Given the description of an element on the screen output the (x, y) to click on. 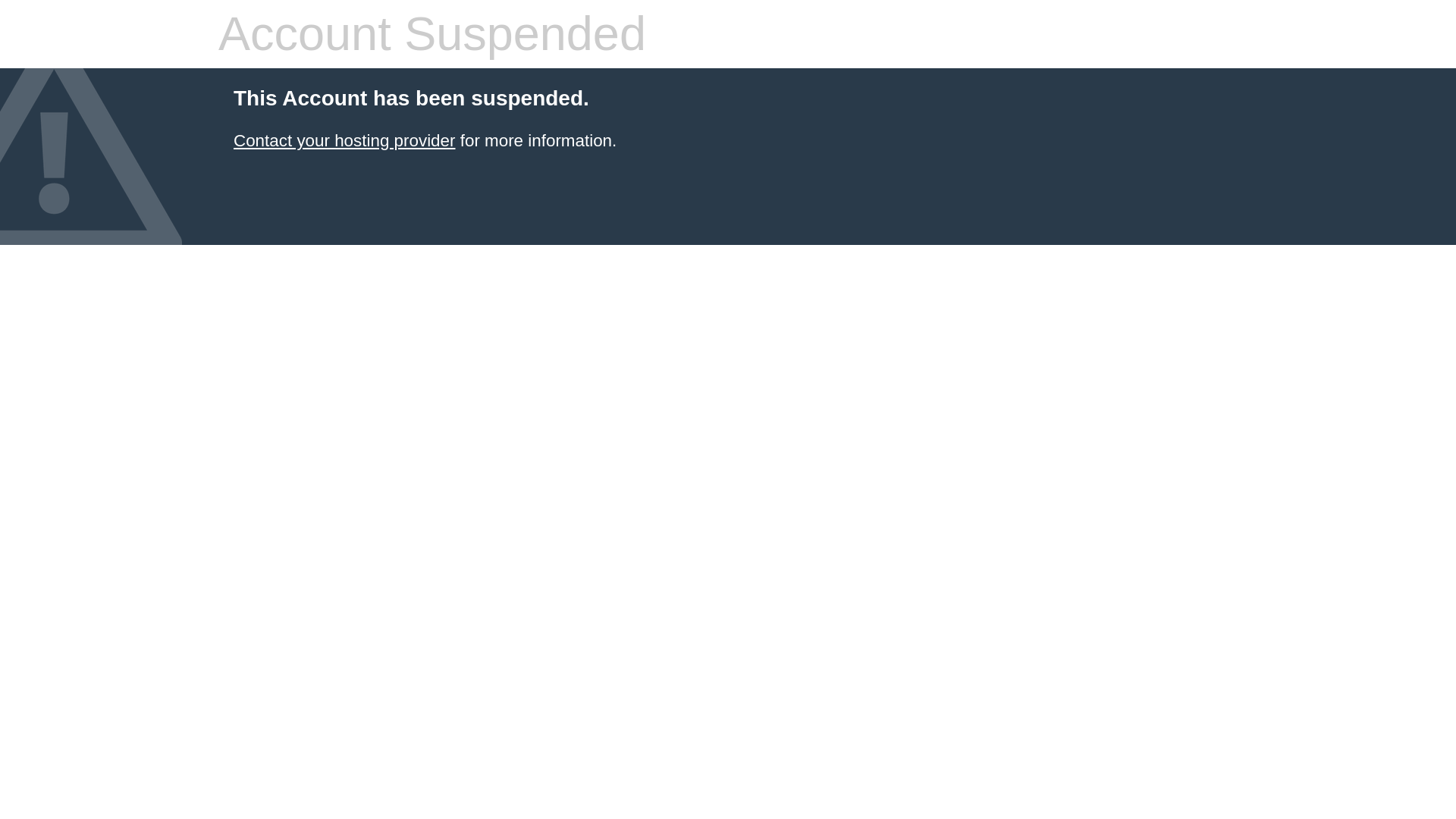
Contact your hosting provider (343, 140)
